Given the description of an element on the screen output the (x, y) to click on. 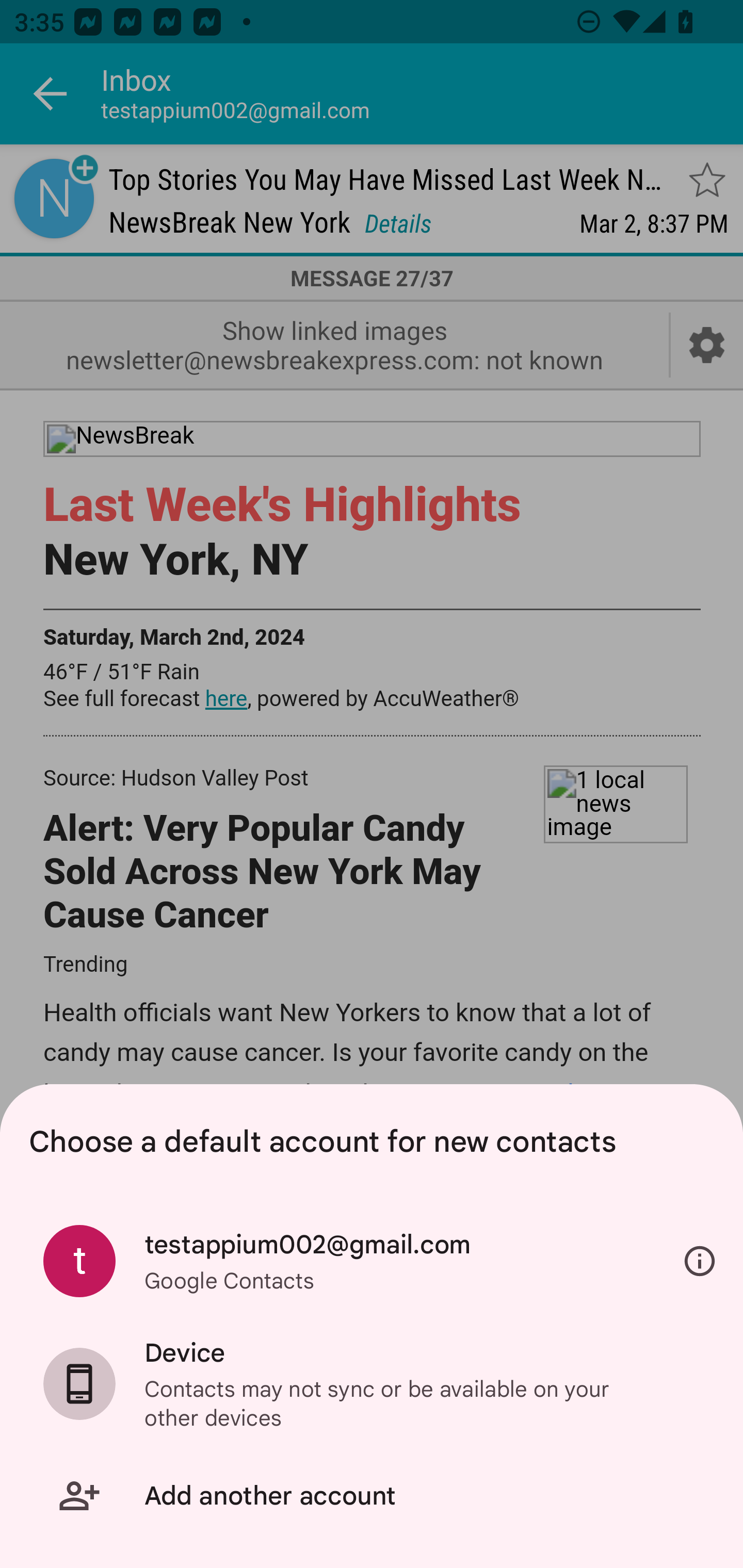
Information about account type (699, 1261)
Add another account (371, 1495)
